Given the description of an element on the screen output the (x, y) to click on. 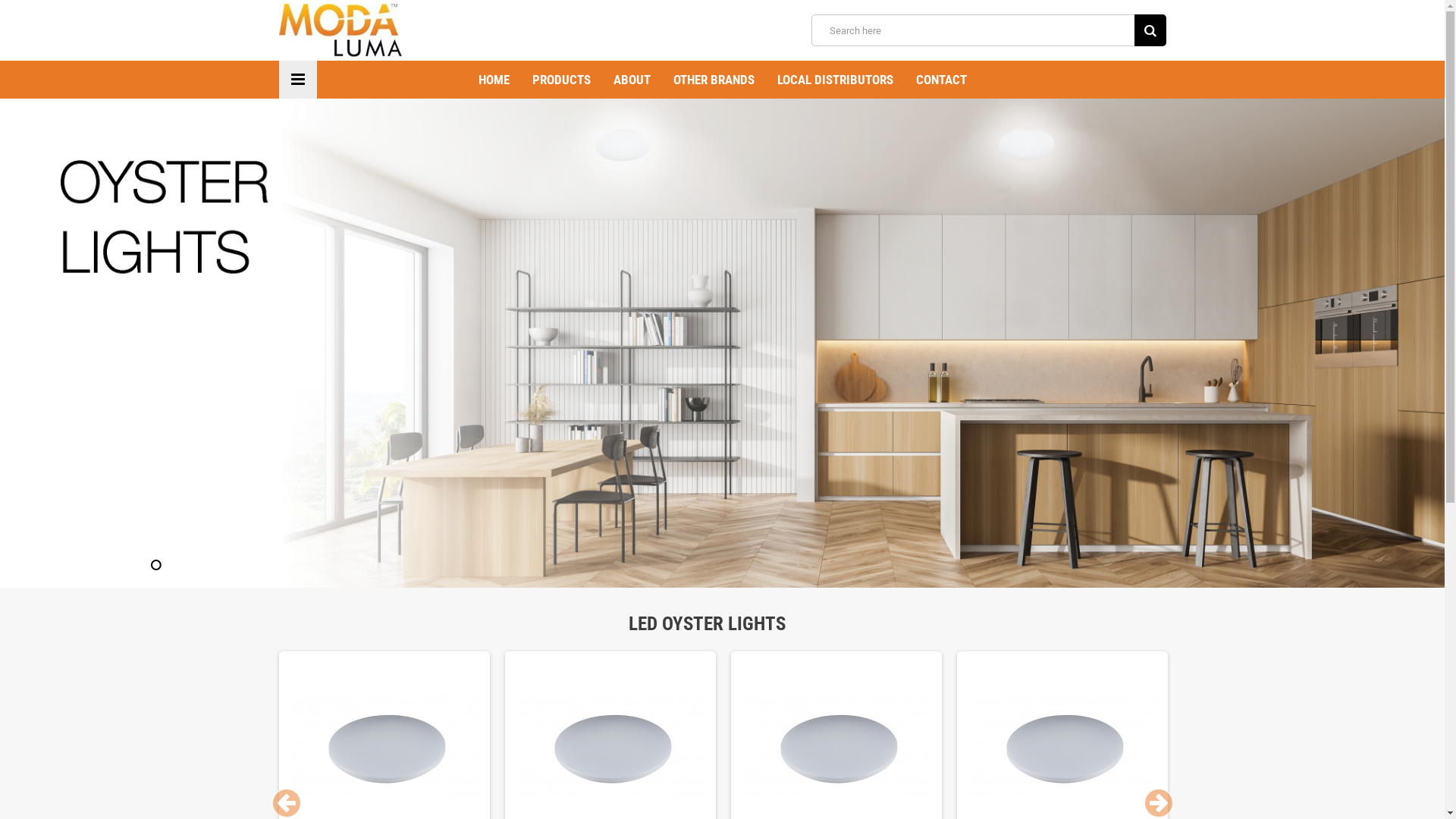
Navigation Element type: text (297, 79)
CONTACT Element type: text (940, 79)
Next Element type: text (1158, 802)
ABOUT Element type: text (632, 79)
Previous Element type: text (286, 802)
PRODUCTS Element type: text (560, 79)
1 Element type: text (155, 564)
LOCAL DISTRIBUTORS Element type: text (834, 79)
LED OYSTER LIGHTS Element type: text (721, 623)
OTHER BRANDS Element type: text (713, 79)
HOME Element type: text (493, 79)
